Given the description of an element on the screen output the (x, y) to click on. 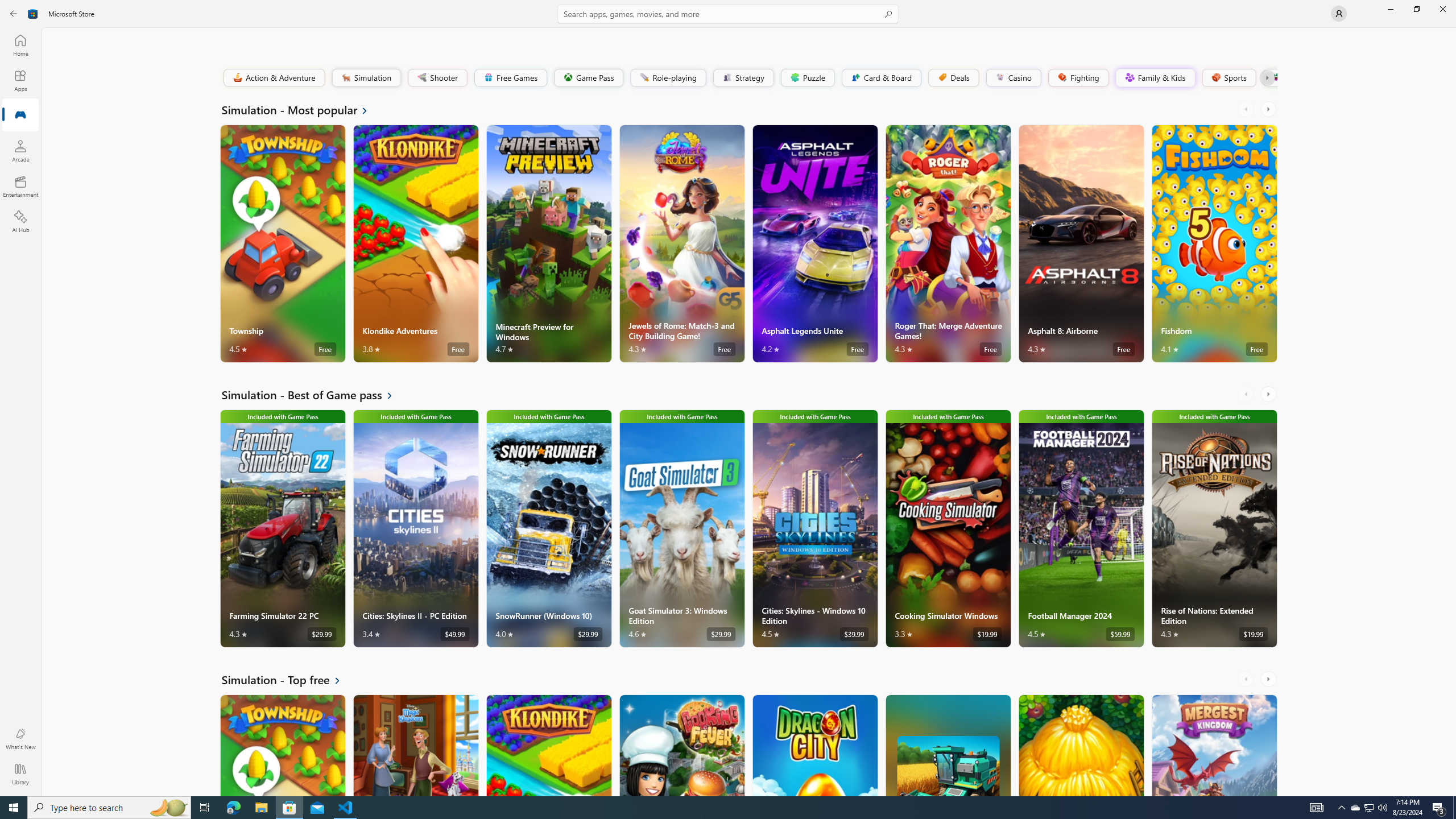
Search (727, 13)
Simulation (365, 77)
Fighting (1078, 77)
Strategy (742, 77)
User profile (1338, 13)
Class: Button (1266, 77)
Sports (1228, 77)
Library (20, 773)
Dragon City. Average rating of 4.5 out of five stars. Free   (814, 745)
Entertainment (20, 185)
Puzzle (807, 77)
